Given the description of an element on the screen output the (x, y) to click on. 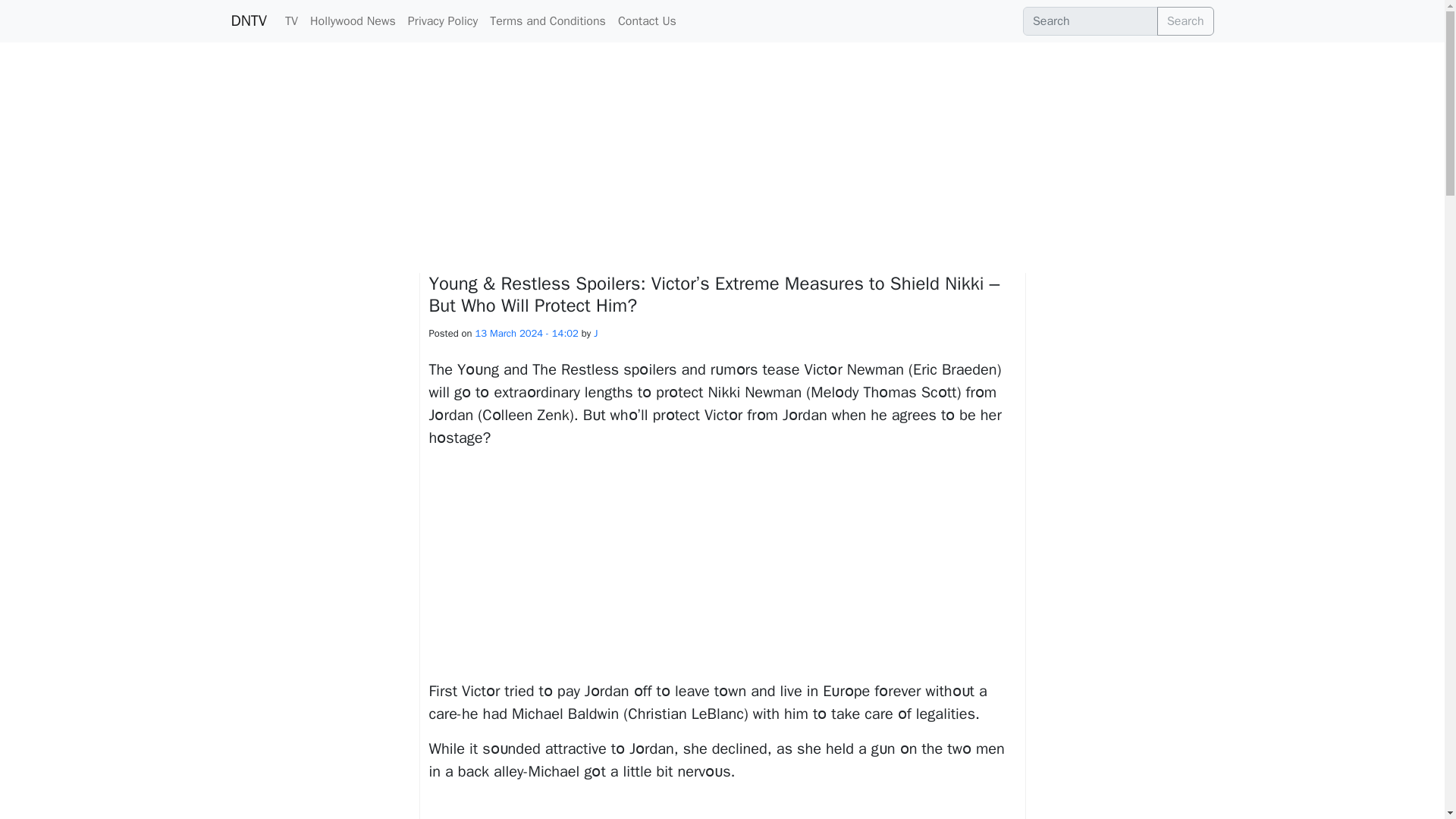
Advertisement (722, 807)
Terms and Conditions (547, 20)
13 March 2024 - 14:02 (527, 332)
Hollywood News (352, 20)
13 March 2024 - 14:02 (527, 332)
Contact Us (646, 20)
Search (1185, 21)
DNTV (248, 20)
Terms and Conditions (547, 20)
